Given the description of an element on the screen output the (x, y) to click on. 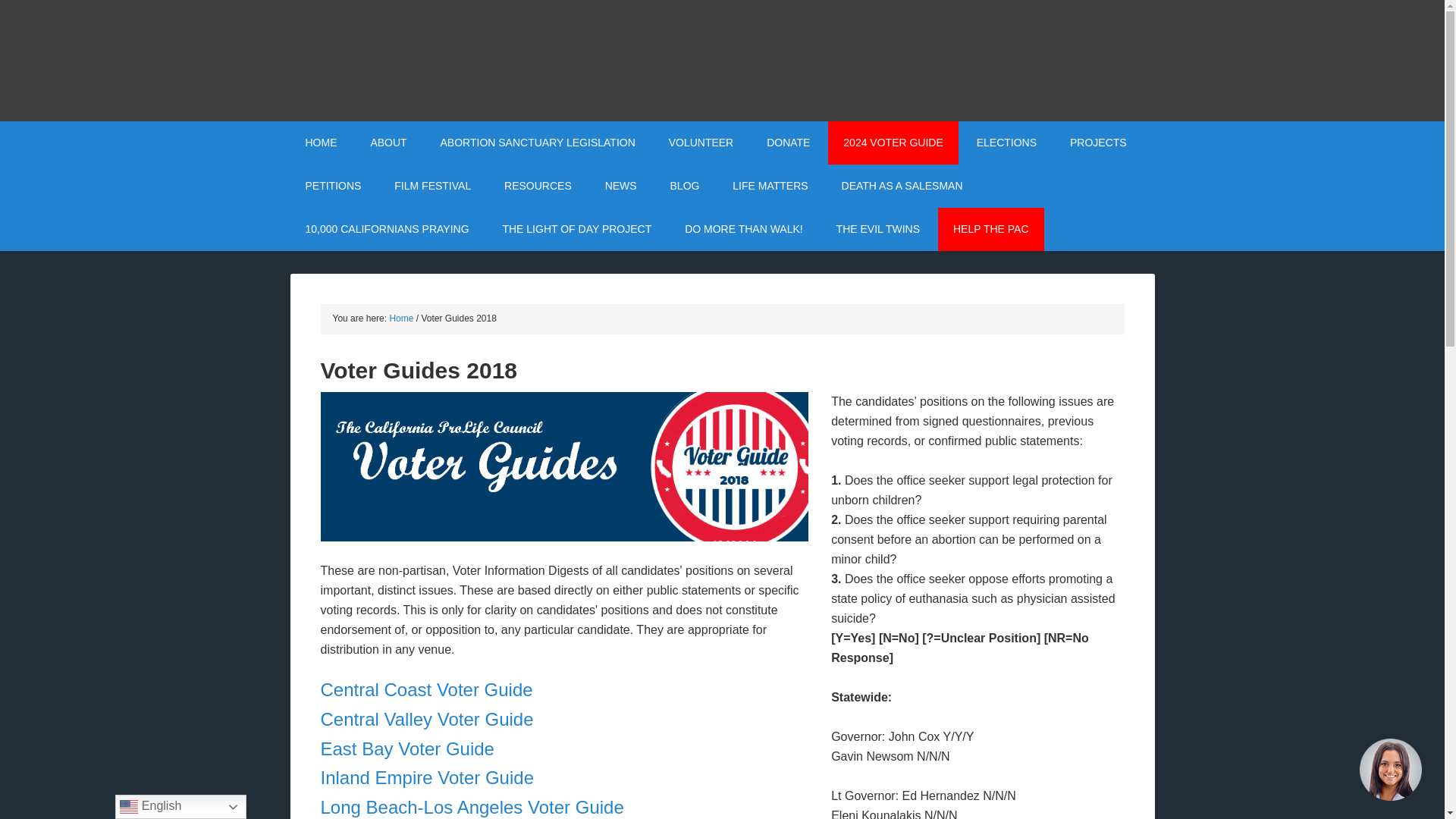
VOLUNTEER (701, 142)
CALIFORNIA PROLIFE COUNCIL (721, 60)
ABORTION SANCTUARY LEGISLATION (537, 142)
HOME (320, 142)
ELECTIONS (1005, 142)
DONATE (788, 142)
ABOUT (388, 142)
2024 VOTER GUIDE (893, 142)
